Given the description of an element on the screen output the (x, y) to click on. 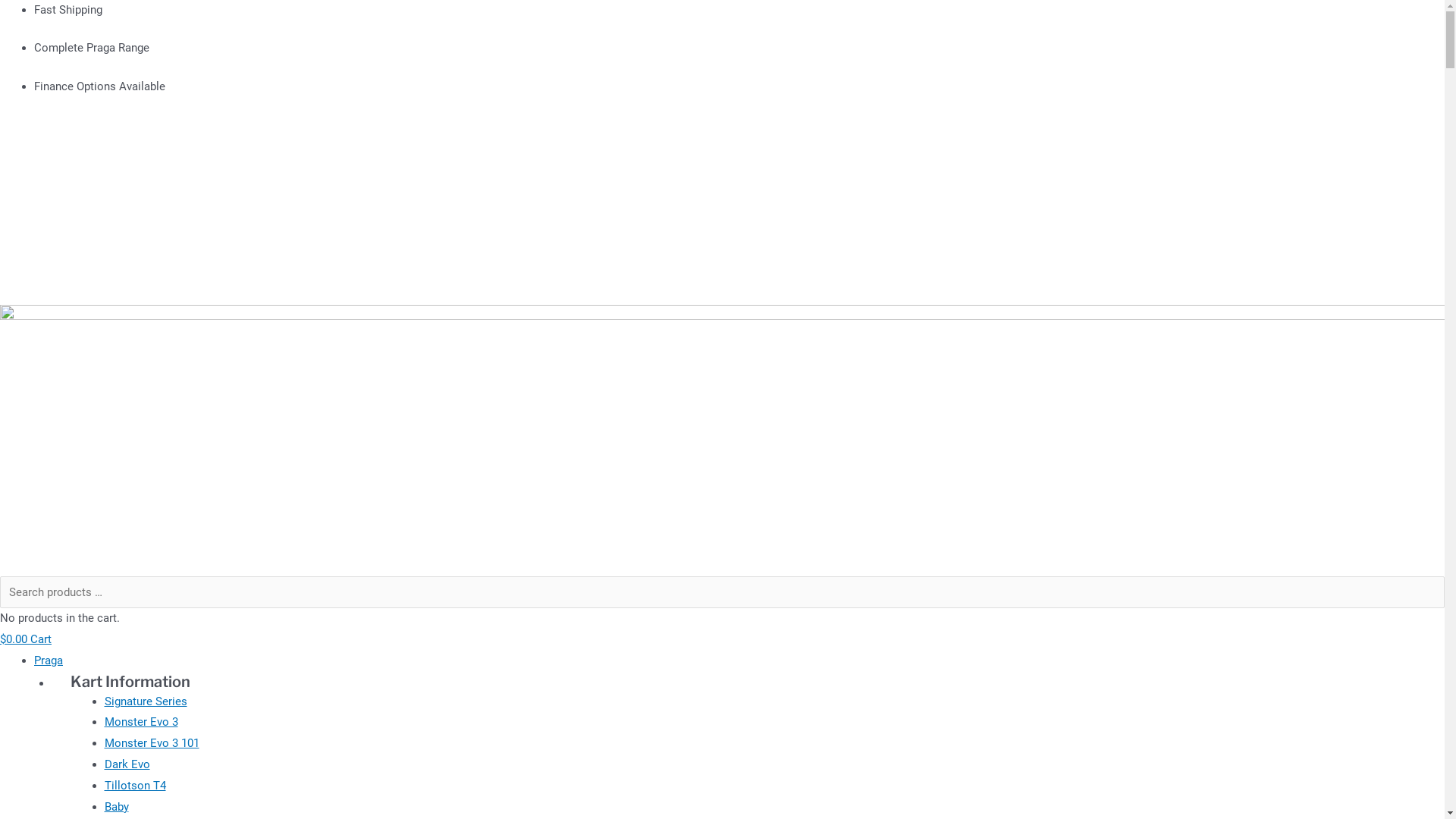
Monster Evo 3 101 Element type: text (151, 742)
Monster Evo 3 Element type: text (141, 721)
Praga Element type: text (48, 660)
Tillotson T4 Element type: text (135, 785)
Baby Element type: text (116, 806)
Dark Evo Element type: text (127, 764)
Signature Series Element type: text (145, 701)
$0.00 Cart Element type: text (25, 639)
